Given the description of an element on the screen output the (x, y) to click on. 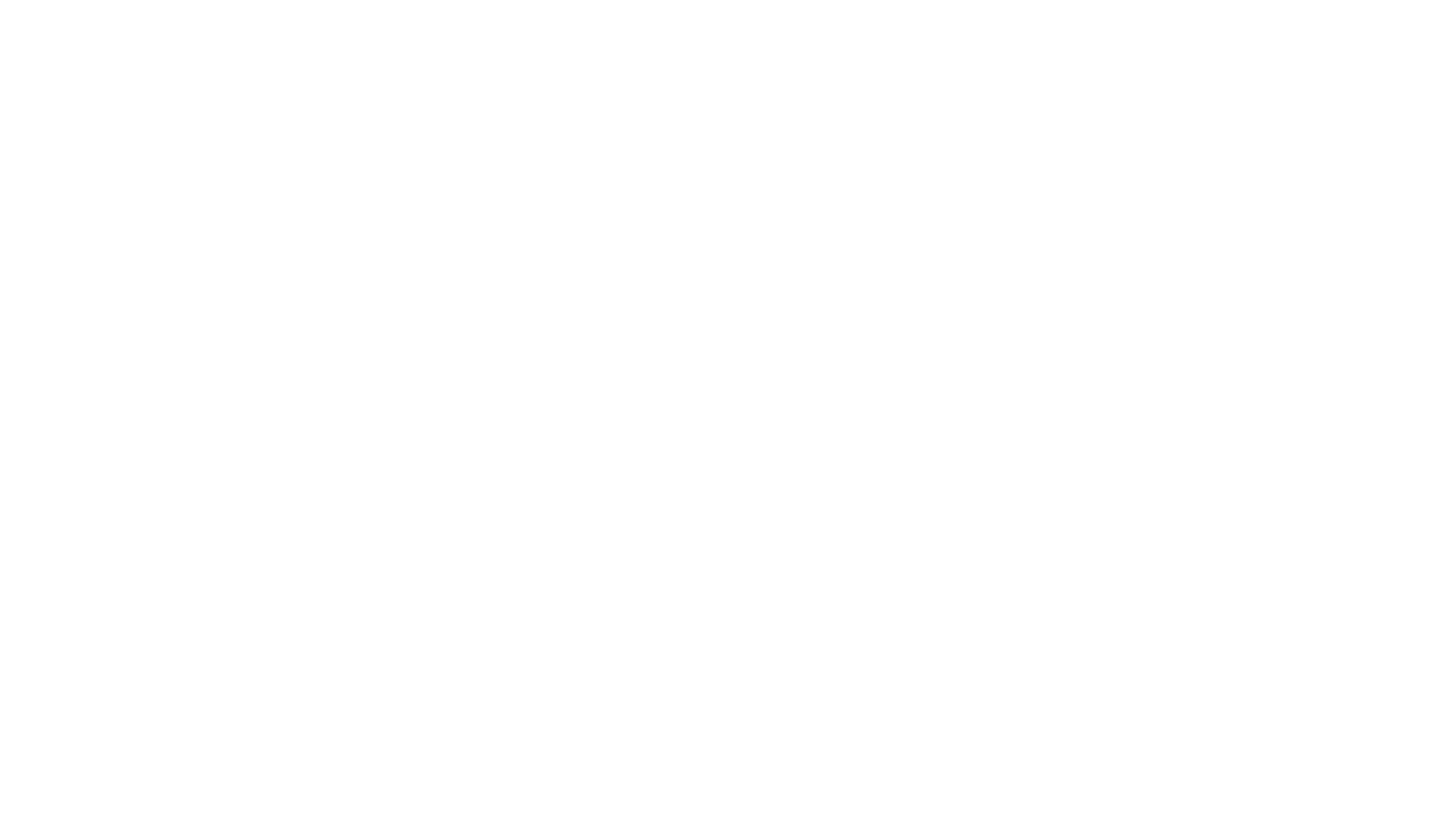
27.7 Conseil Digital Element type: text (194, 73)
